Given the description of an element on the screen output the (x, y) to click on. 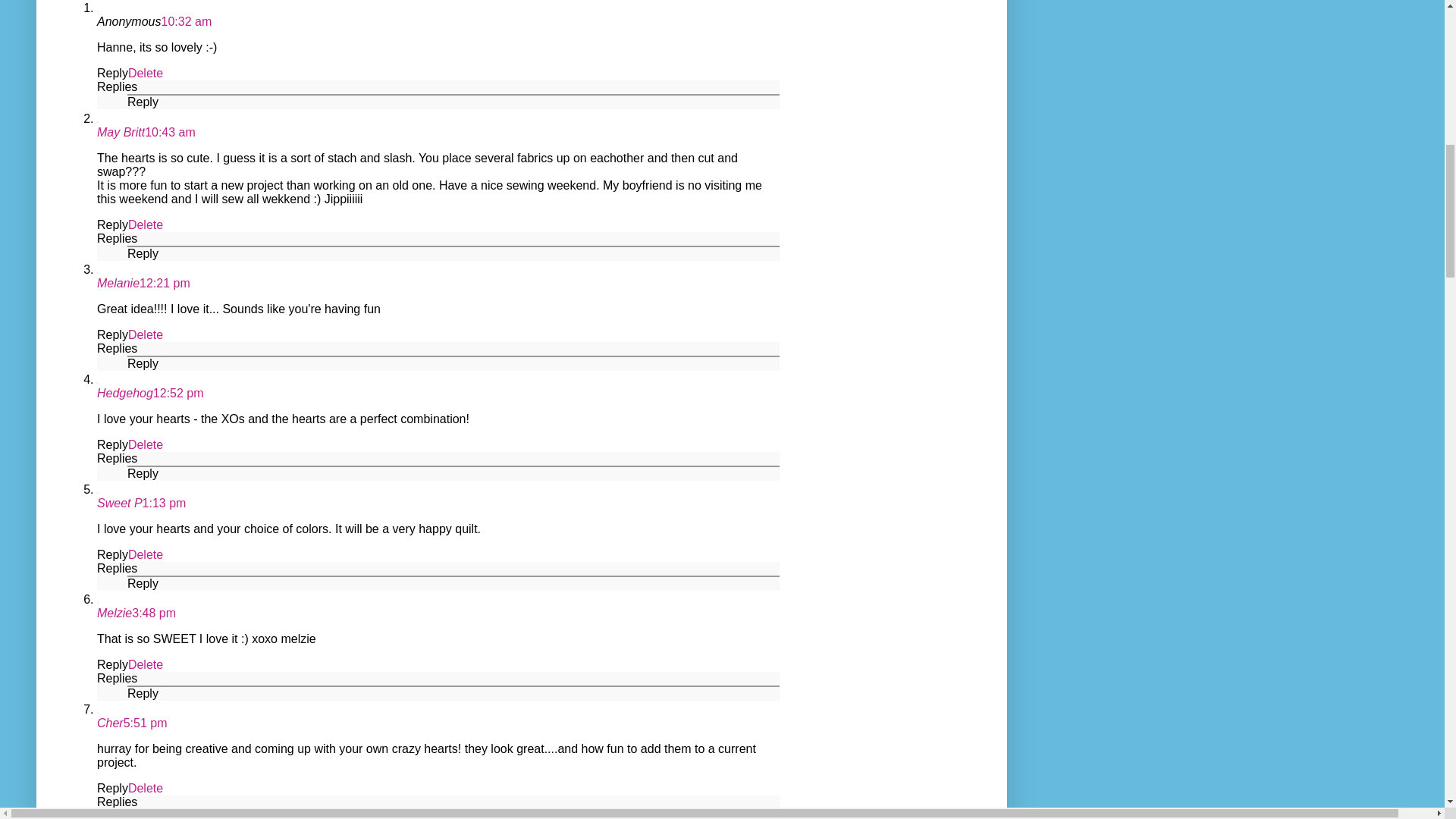
Reply (143, 472)
Reply (112, 72)
Reply (112, 444)
May Britt (120, 132)
Sweet P (119, 502)
Reply (143, 101)
12:52 pm (177, 392)
Replies (116, 237)
Melanie (118, 282)
Reply (112, 224)
Reply (112, 334)
Replies (116, 86)
Reply (112, 554)
Reply (143, 253)
Delete (145, 334)
